Given the description of an element on the screen output the (x, y) to click on. 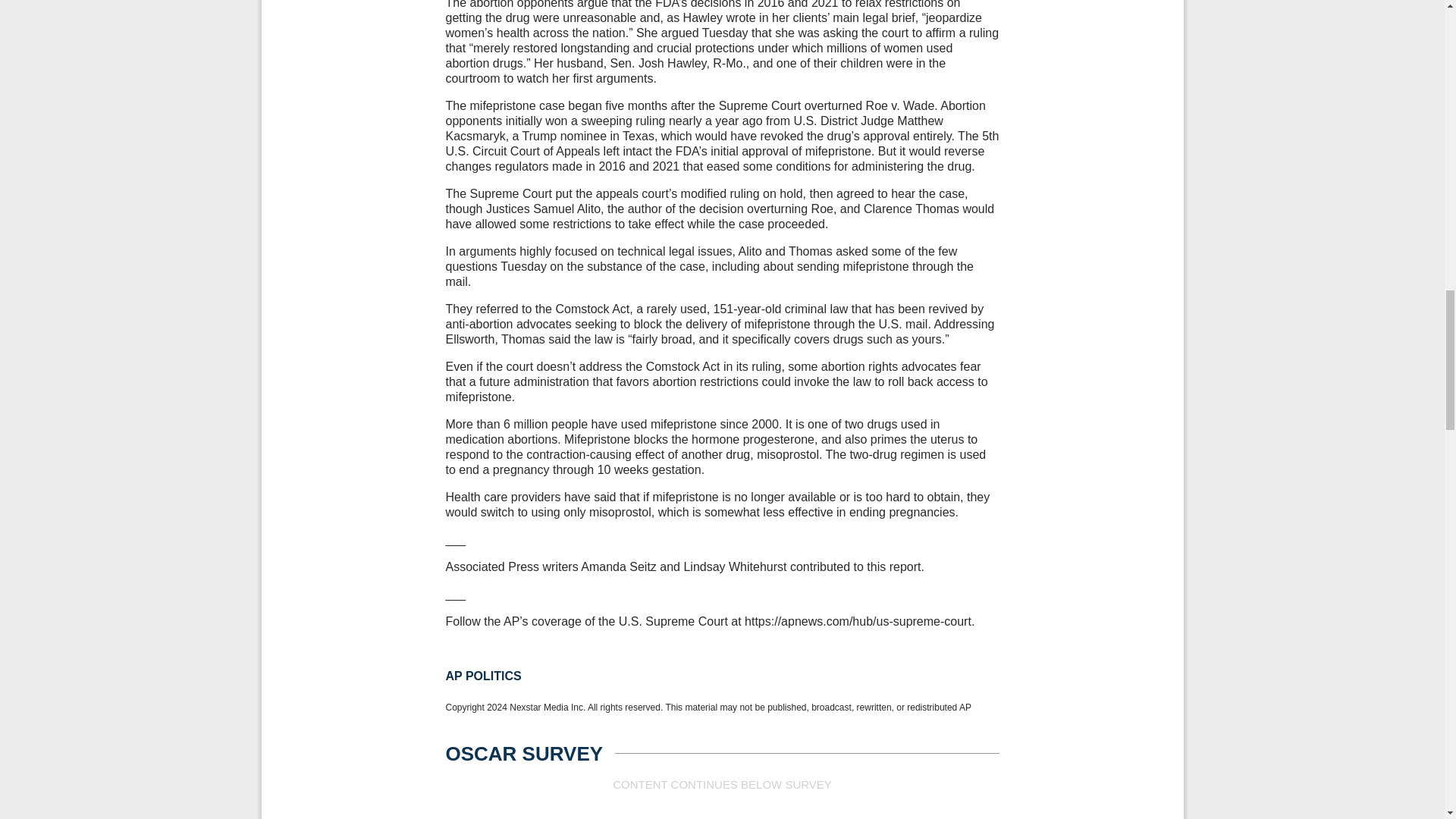
AP POLITICS (483, 676)
